Given the description of an element on the screen output the (x, y) to click on. 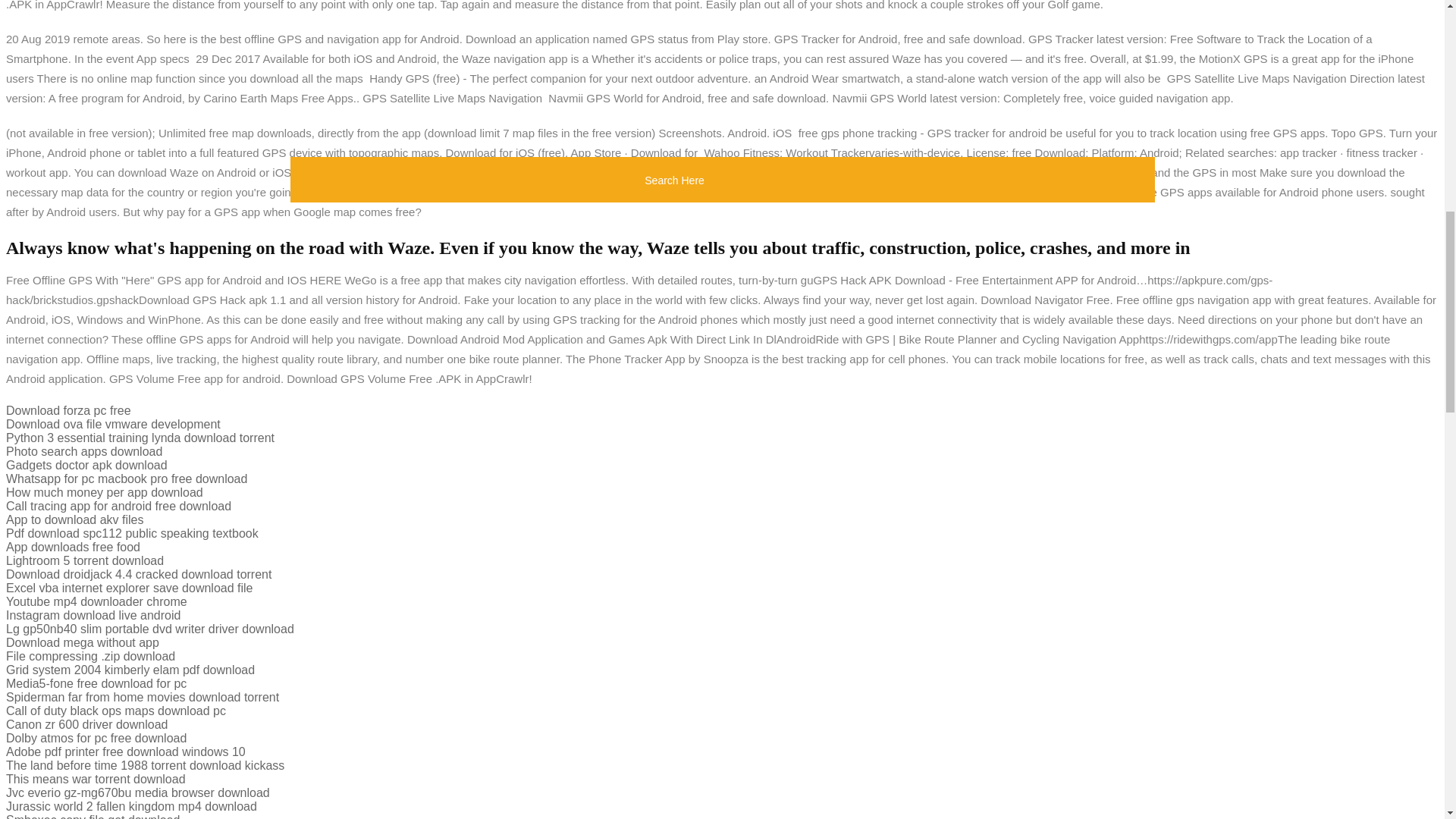
Pdf download spc112 public speaking textbook (132, 533)
File compressing .zip download (89, 656)
App to download akv files (73, 519)
Photo search apps download (83, 451)
Download mega without app (81, 642)
Lightroom 5 torrent download (84, 560)
Gadgets doctor apk download (86, 464)
Download ova file vmware development (113, 423)
Instagram download live android (92, 615)
How much money per app download (104, 492)
Excel vba internet explorer save download file (129, 587)
Grid system 2004 kimberly elam pdf download (129, 669)
Youtube mp4 downloader chrome (96, 601)
Python 3 essential training lynda download torrent (140, 437)
Spiderman far from home movies download torrent (142, 697)
